Given the description of an element on the screen output the (x, y) to click on. 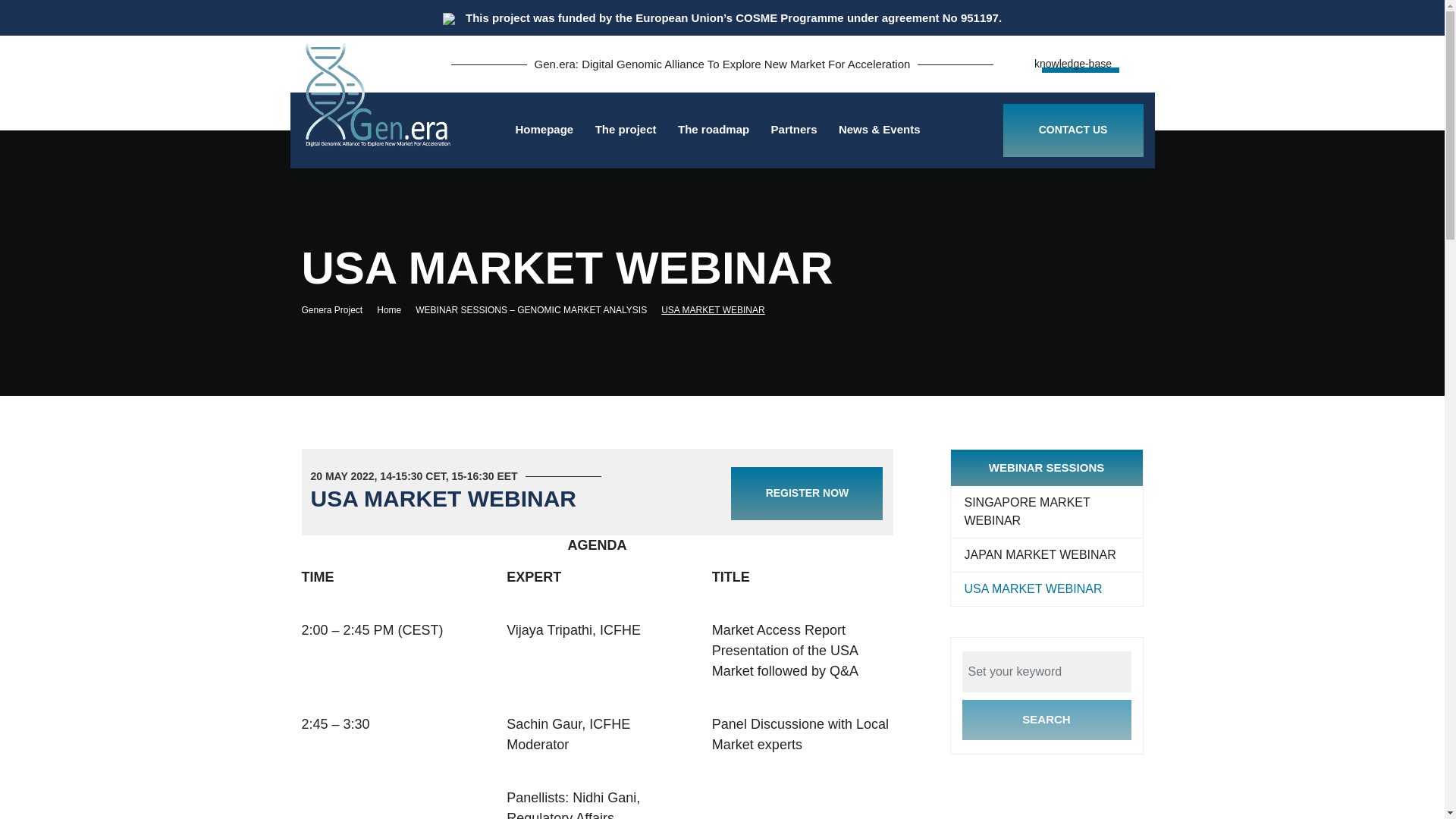
JAPAN MARKET WEBINAR (1046, 555)
CONTACT US (1072, 130)
Home (395, 309)
Home (395, 309)
SINGAPORE MARKET WEBINAR (1046, 512)
Homepage (544, 129)
Home (339, 309)
USA MARKET WEBINAR (1046, 589)
SEARCH (1045, 720)
The project (625, 129)
